Given the description of an element on the screen output the (x, y) to click on. 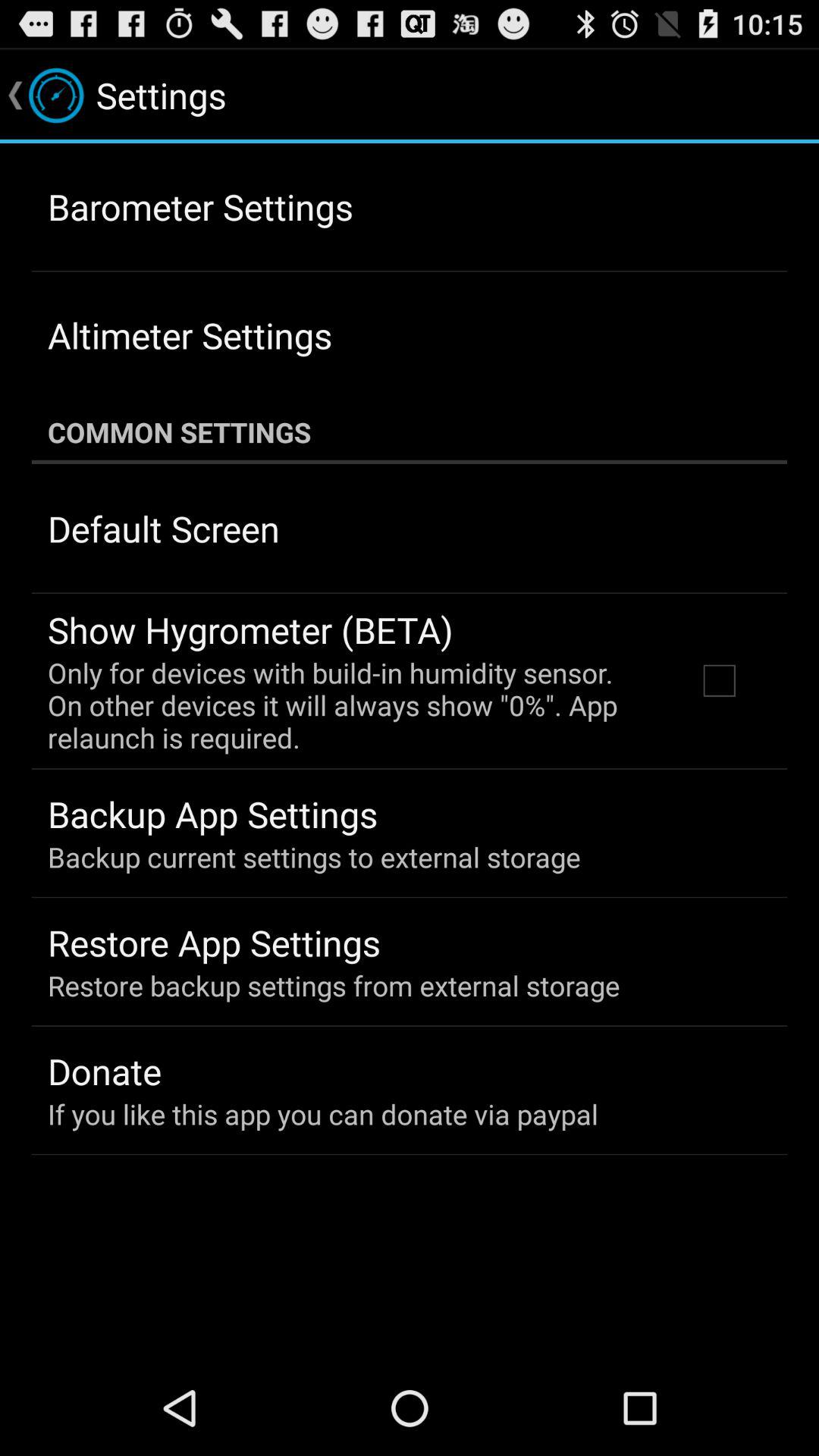
tap show hygrometer (beta) (250, 629)
